Given the description of an element on the screen output the (x, y) to click on. 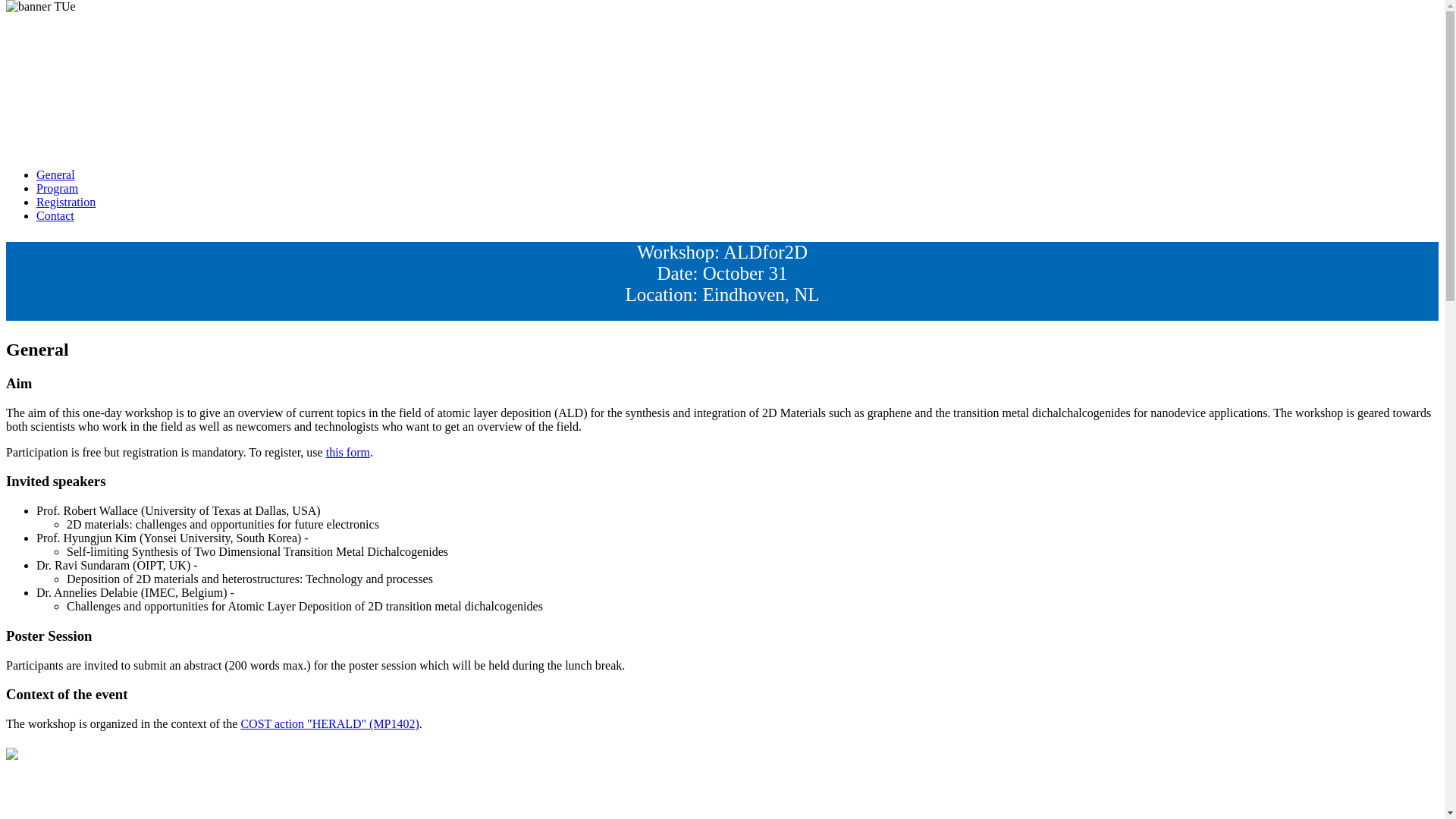
Contact (55, 215)
General (55, 174)
this form (347, 451)
Program (57, 187)
Registration (66, 201)
